Given the description of an element on the screen output the (x, y) to click on. 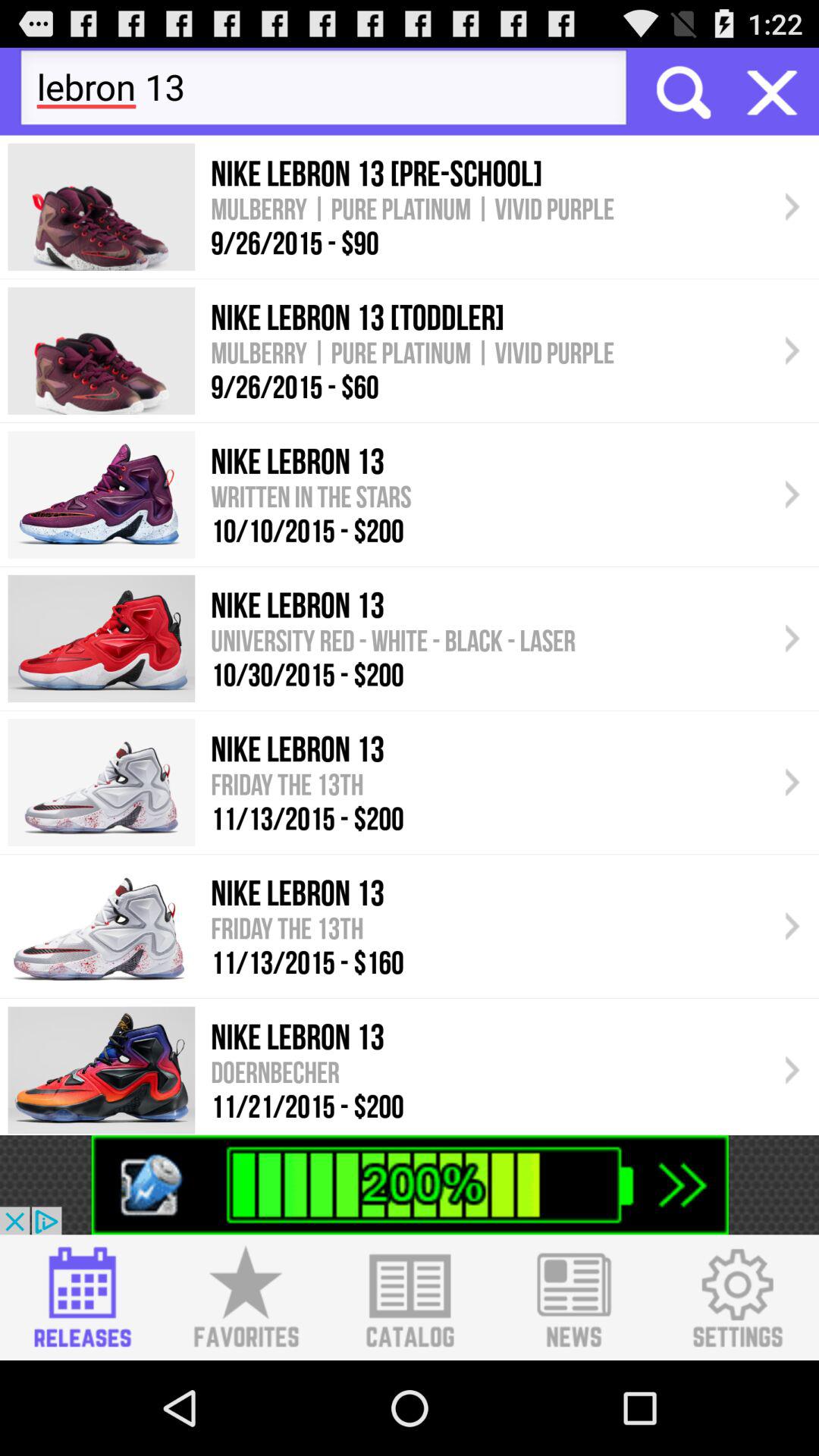
autoplay option turned on (772, 91)
